Given the description of an element on the screen output the (x, y) to click on. 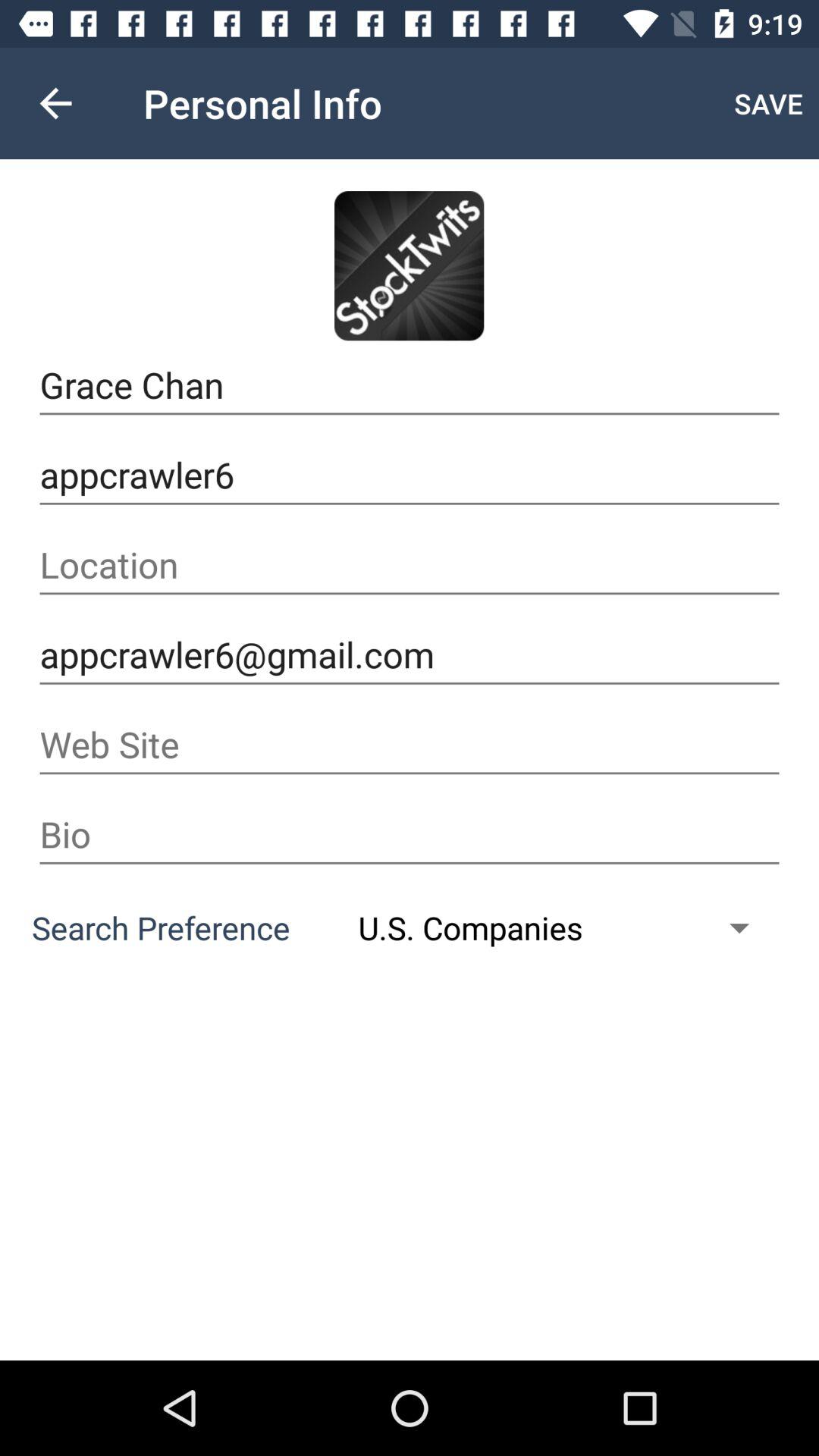
jump until appcrawler6@gmail.com (409, 655)
